Given the description of an element on the screen output the (x, y) to click on. 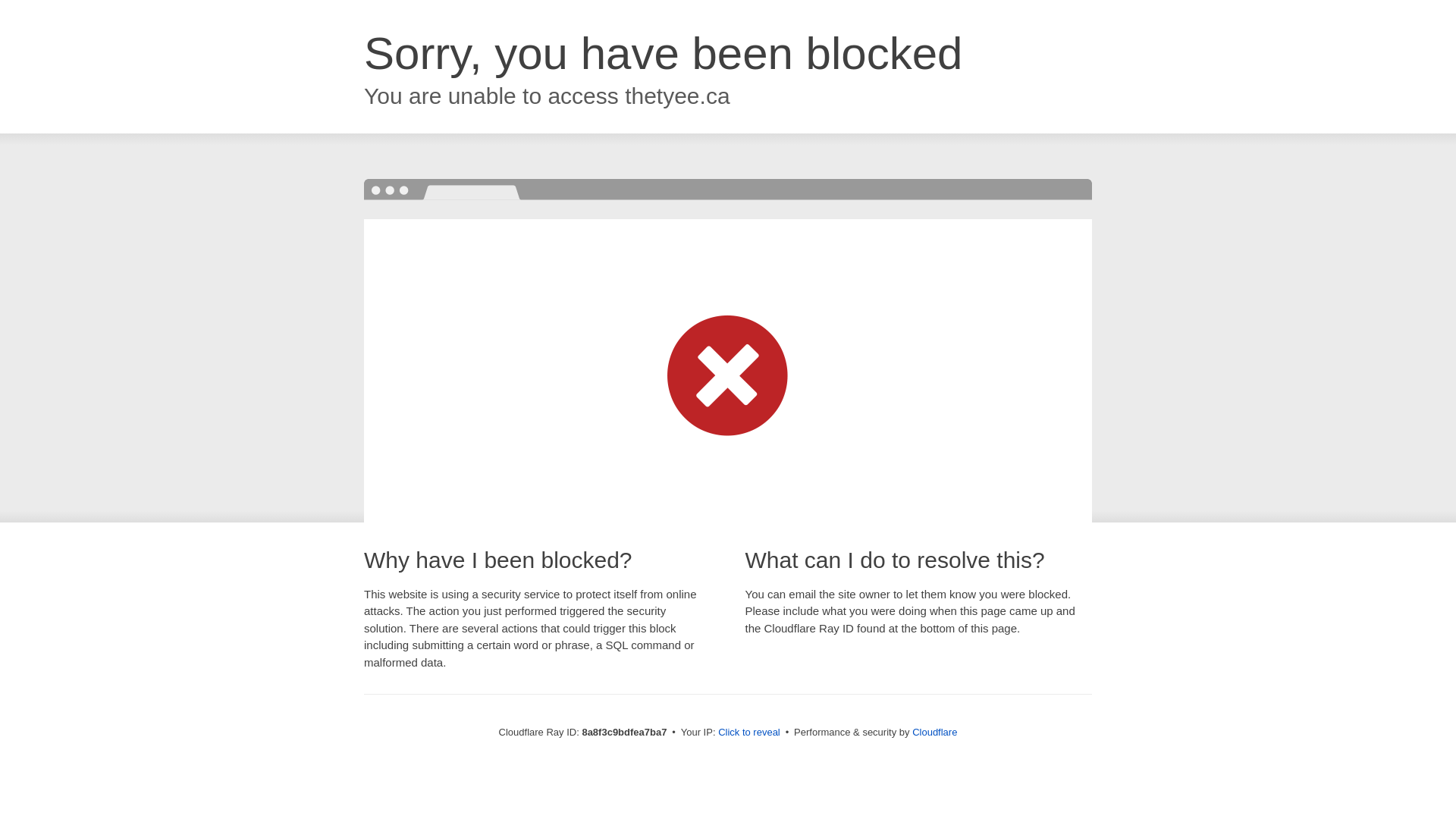
Click to reveal (748, 732)
Cloudflare (934, 731)
